Given the description of an element on the screen output the (x, y) to click on. 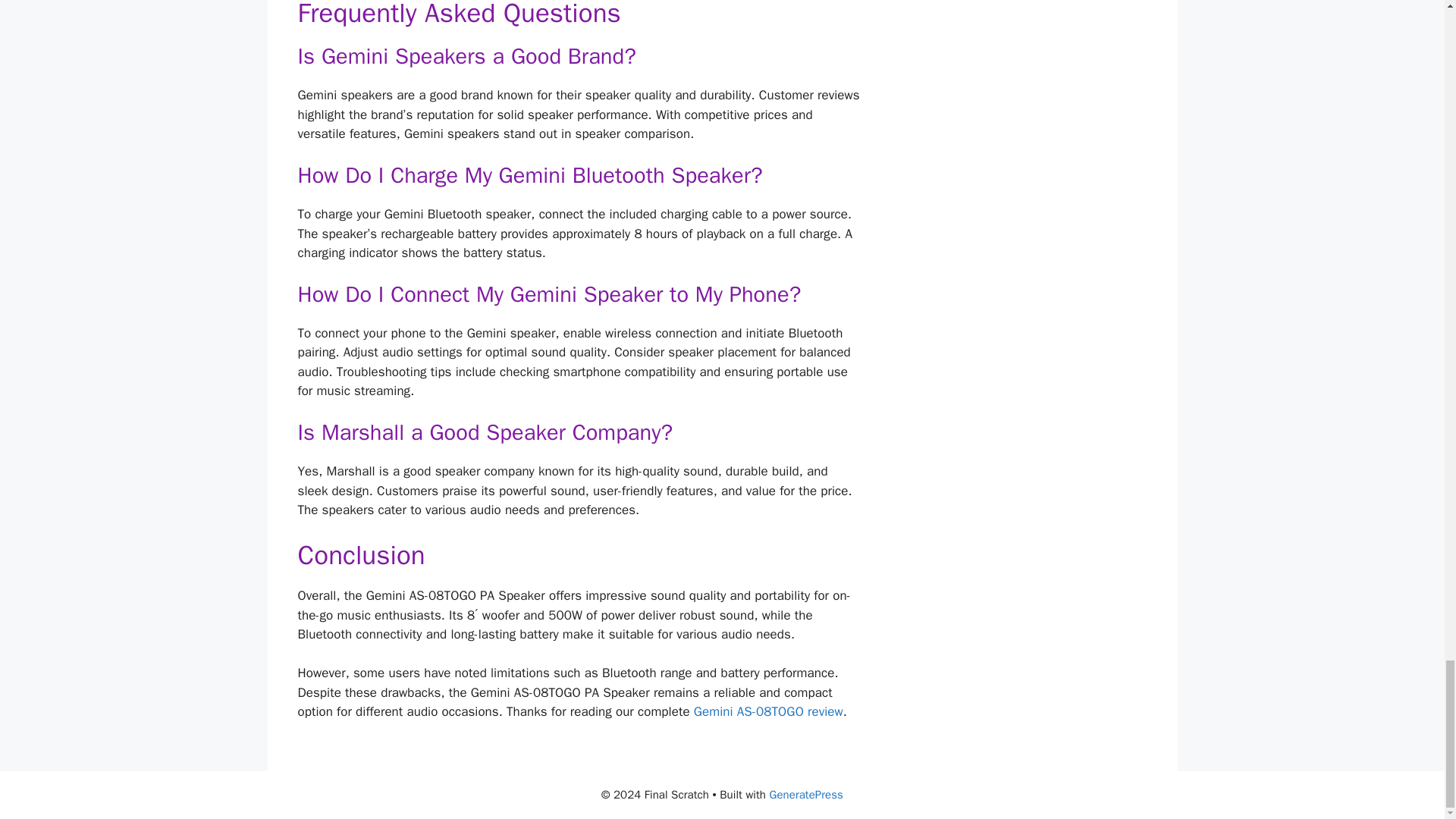
Gemini AS-08TOGO review (768, 711)
